Given the description of an element on the screen output the (x, y) to click on. 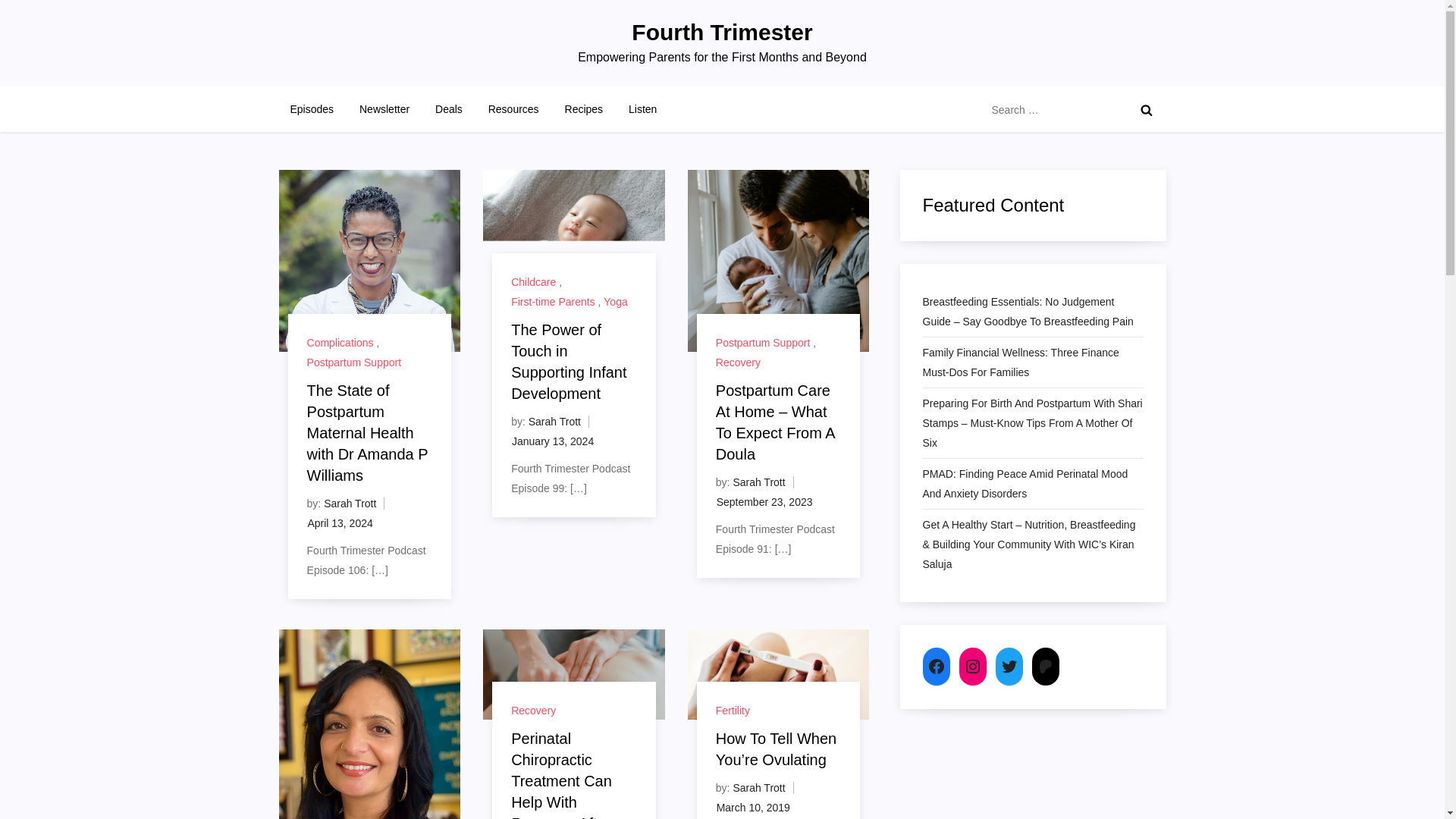
Listen (642, 108)
Complications (340, 342)
Recovery (533, 710)
Postpartum Support (763, 342)
Recovery (738, 362)
Sarah Trott (349, 503)
Deals (448, 108)
Recipes (583, 108)
Episodes (312, 108)
Fourth Trimester (721, 32)
